Given the description of an element on the screen output the (x, y) to click on. 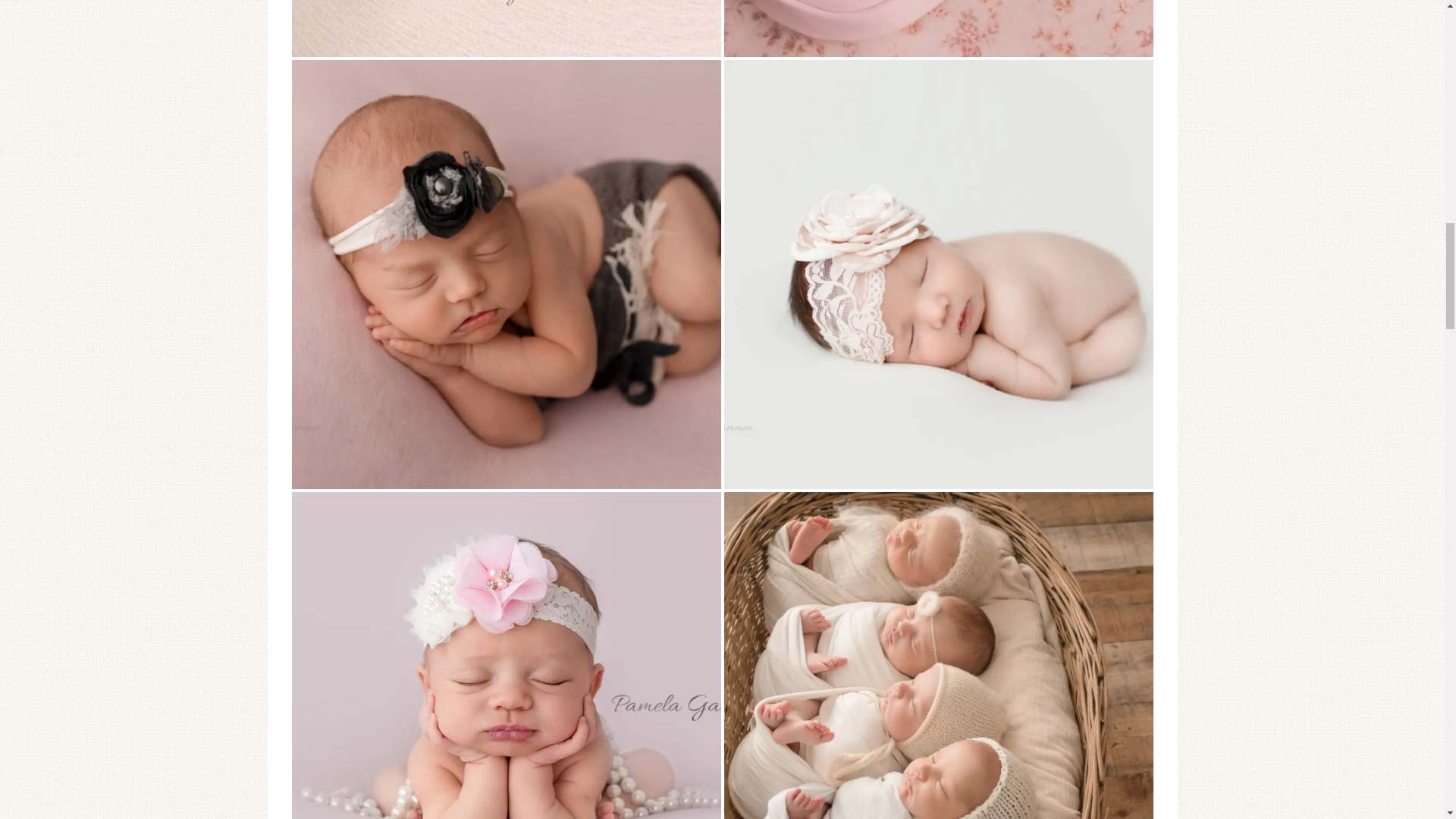
Evanfb-14 (505, 28)
Adleiweb-1 (938, 28)
